Given the description of an element on the screen output the (x, y) to click on. 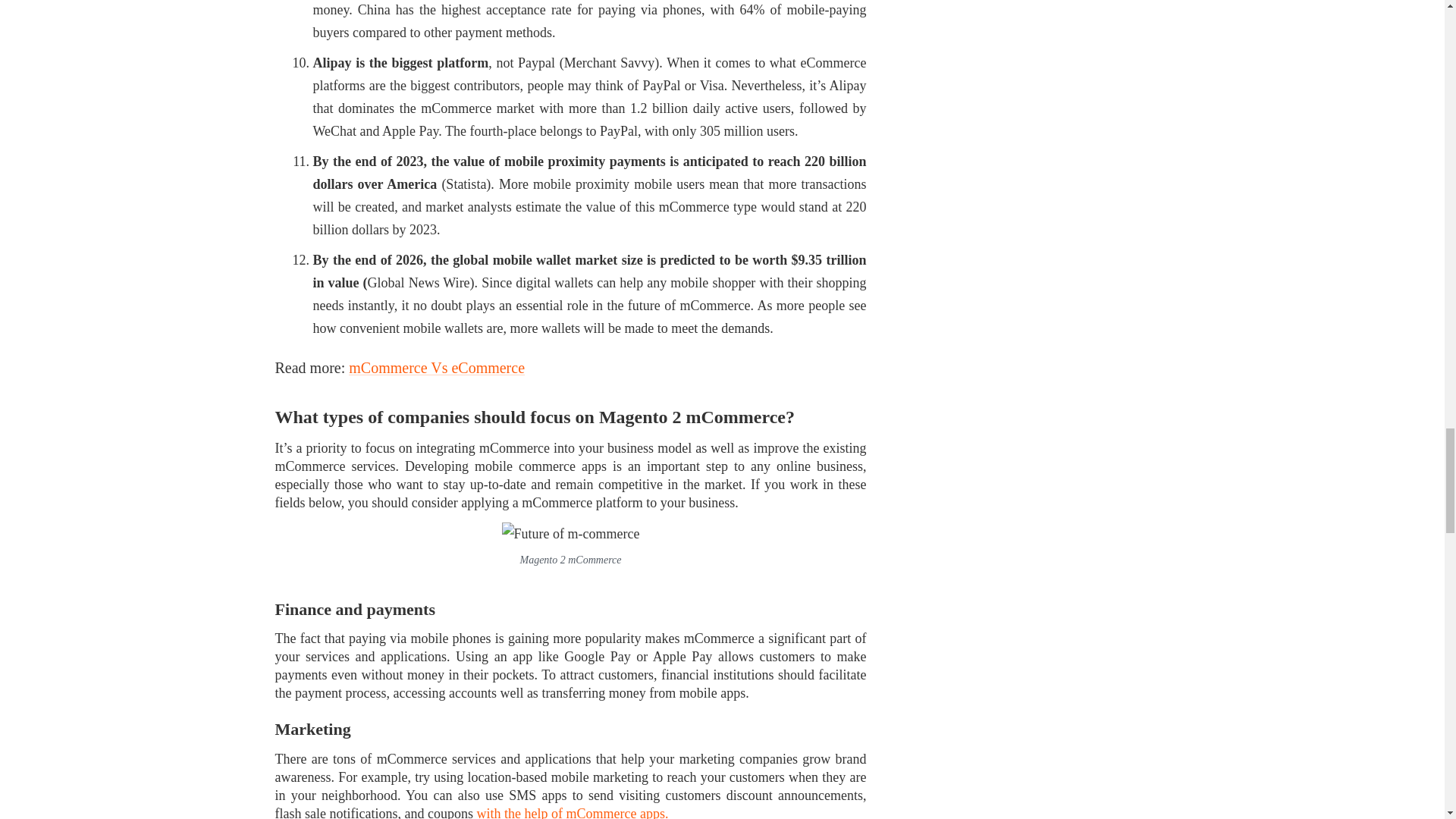
with the help of mCommerce apps. (572, 812)
mCommerce Vs eCommerce (436, 367)
